Given the description of an element on the screen output the (x, y) to click on. 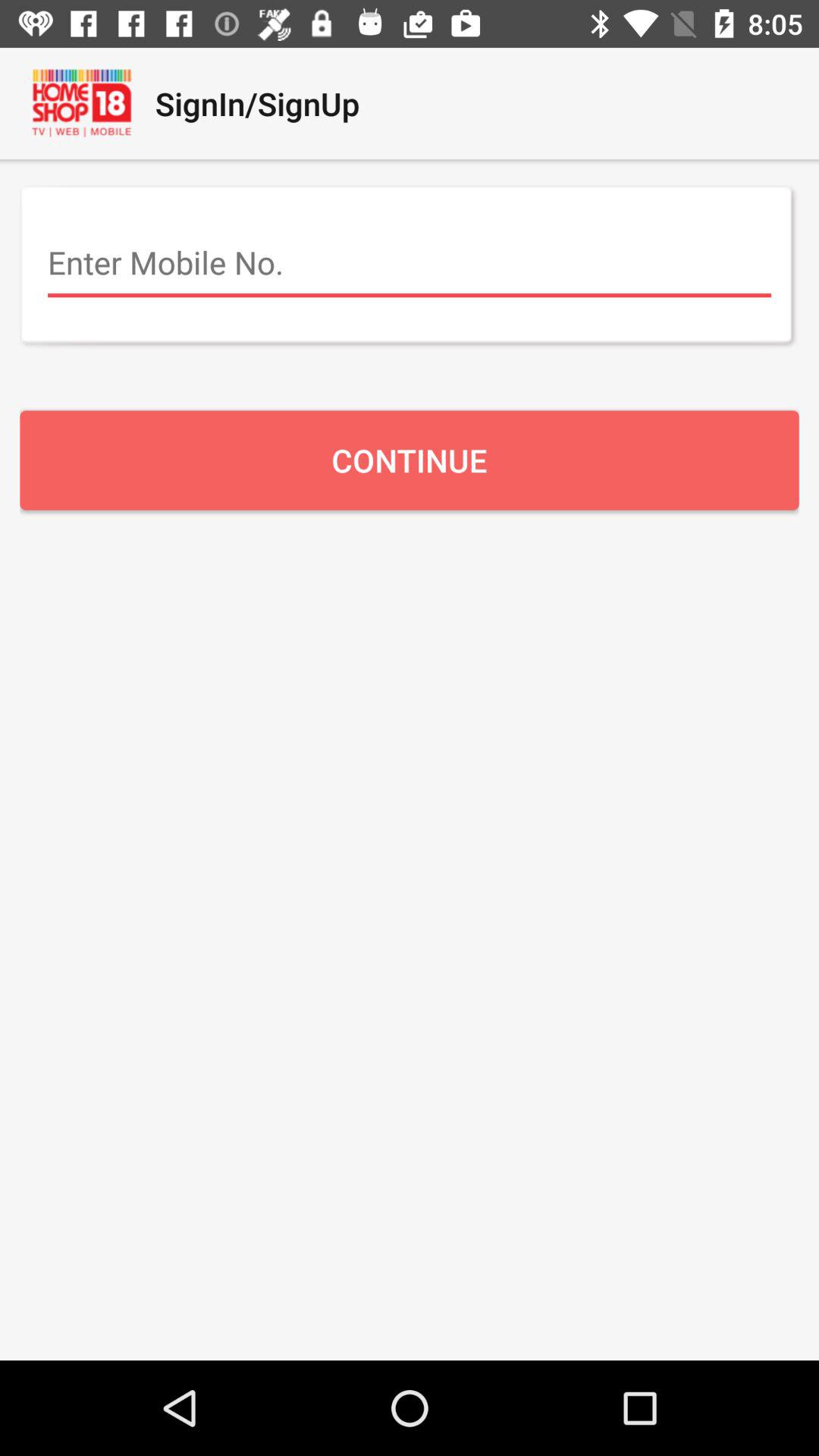
flip until continue item (409, 460)
